Given the description of an element on the screen output the (x, y) to click on. 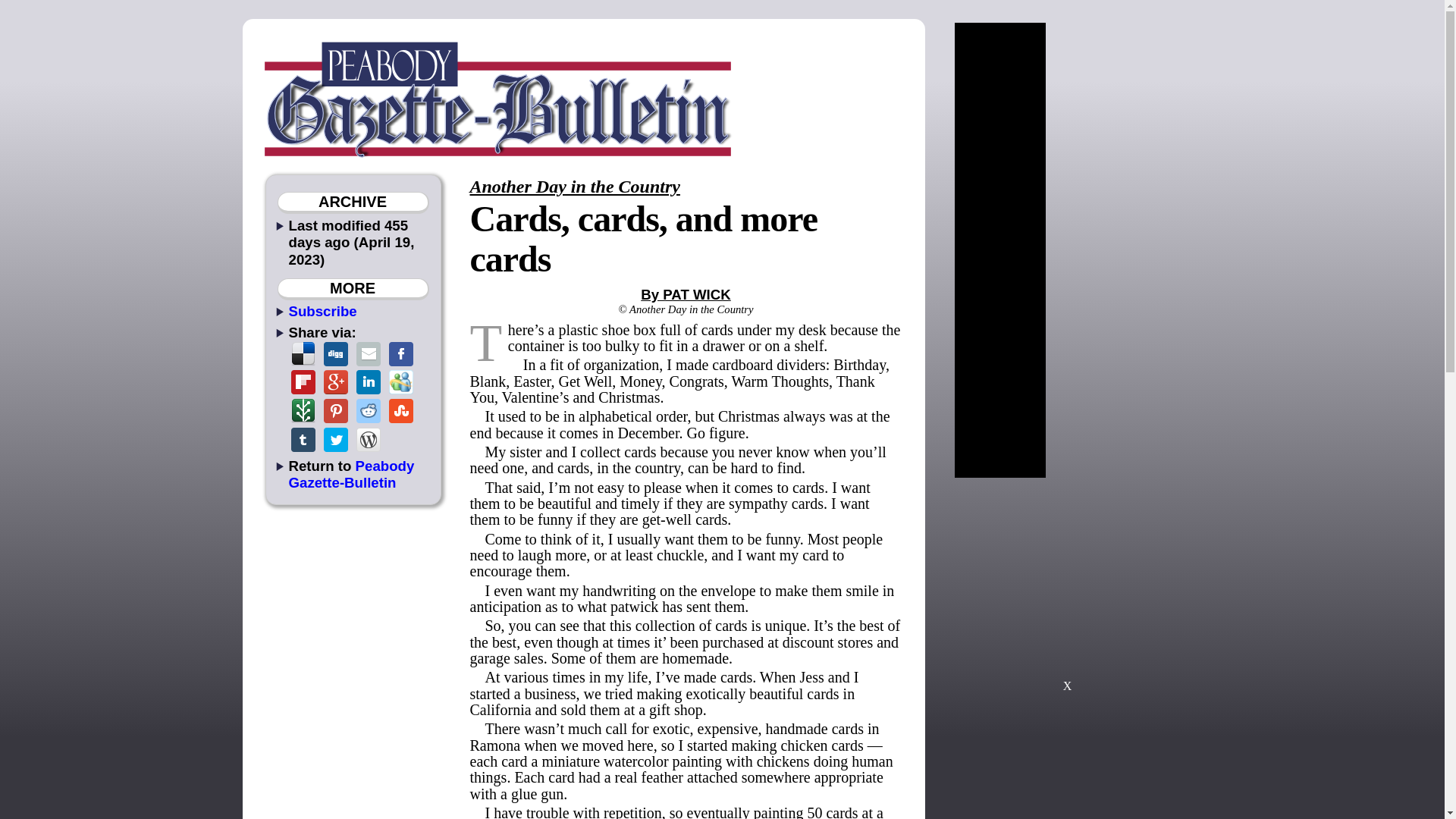
Peabody Gazette-Bulletin (350, 473)
Advertisement (1067, 591)
Subscribe (322, 311)
